Given the description of an element on the screen output the (x, y) to click on. 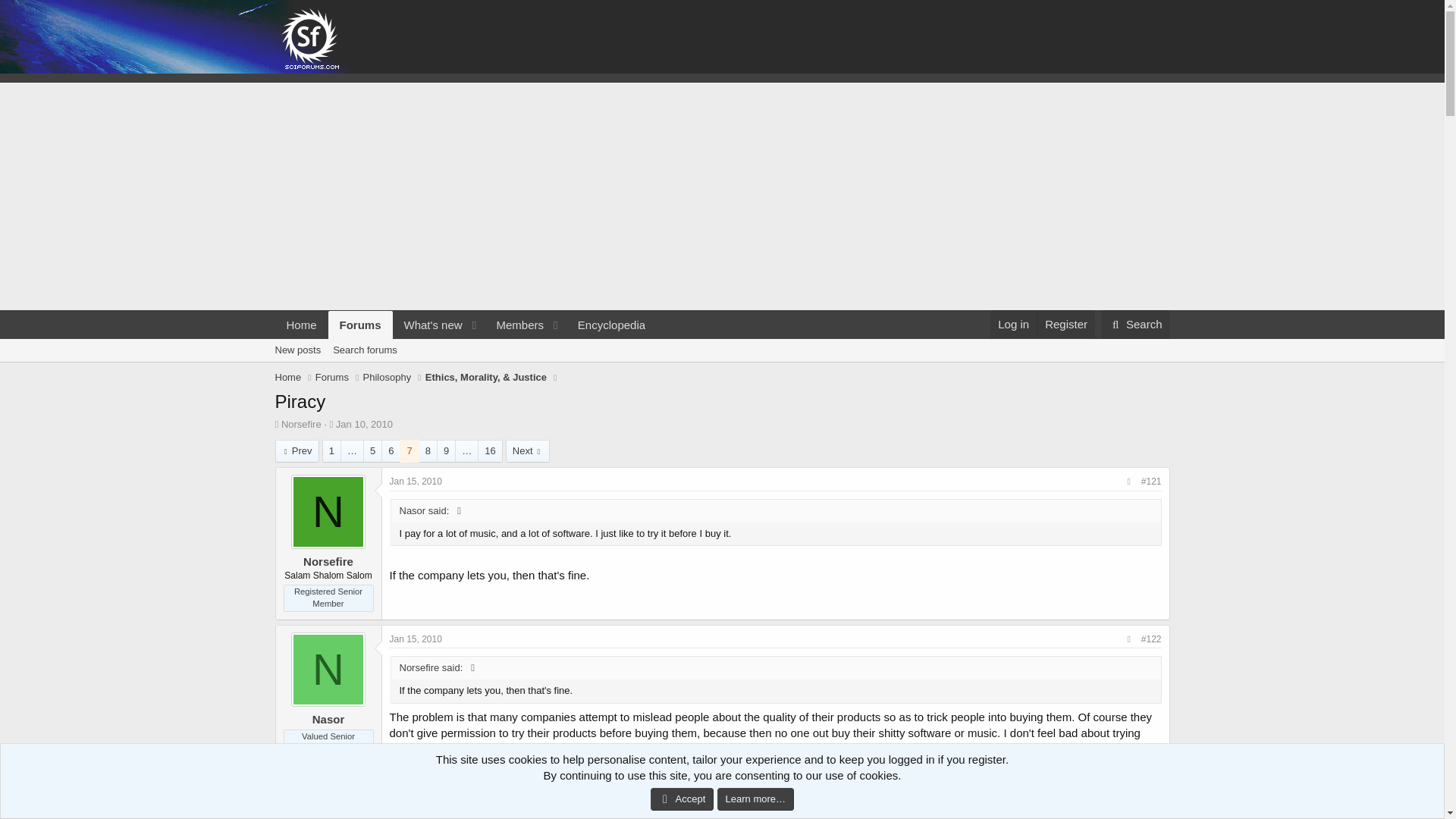
Search forums (364, 350)
Jan 15, 2010 at 3:01 AM (416, 638)
Forums (361, 325)
Philosophy (720, 367)
What's new (387, 377)
Jan 15, 2010 at 2:41 AM (428, 325)
Log in (416, 480)
Jan 15, 2010 at 4:23 AM (1013, 324)
Prev (464, 325)
Forums (416, 783)
Home (296, 450)
Jan 10, 2010 at 2:57 PM (332, 377)
Home (301, 325)
